Given the description of an element on the screen output the (x, y) to click on. 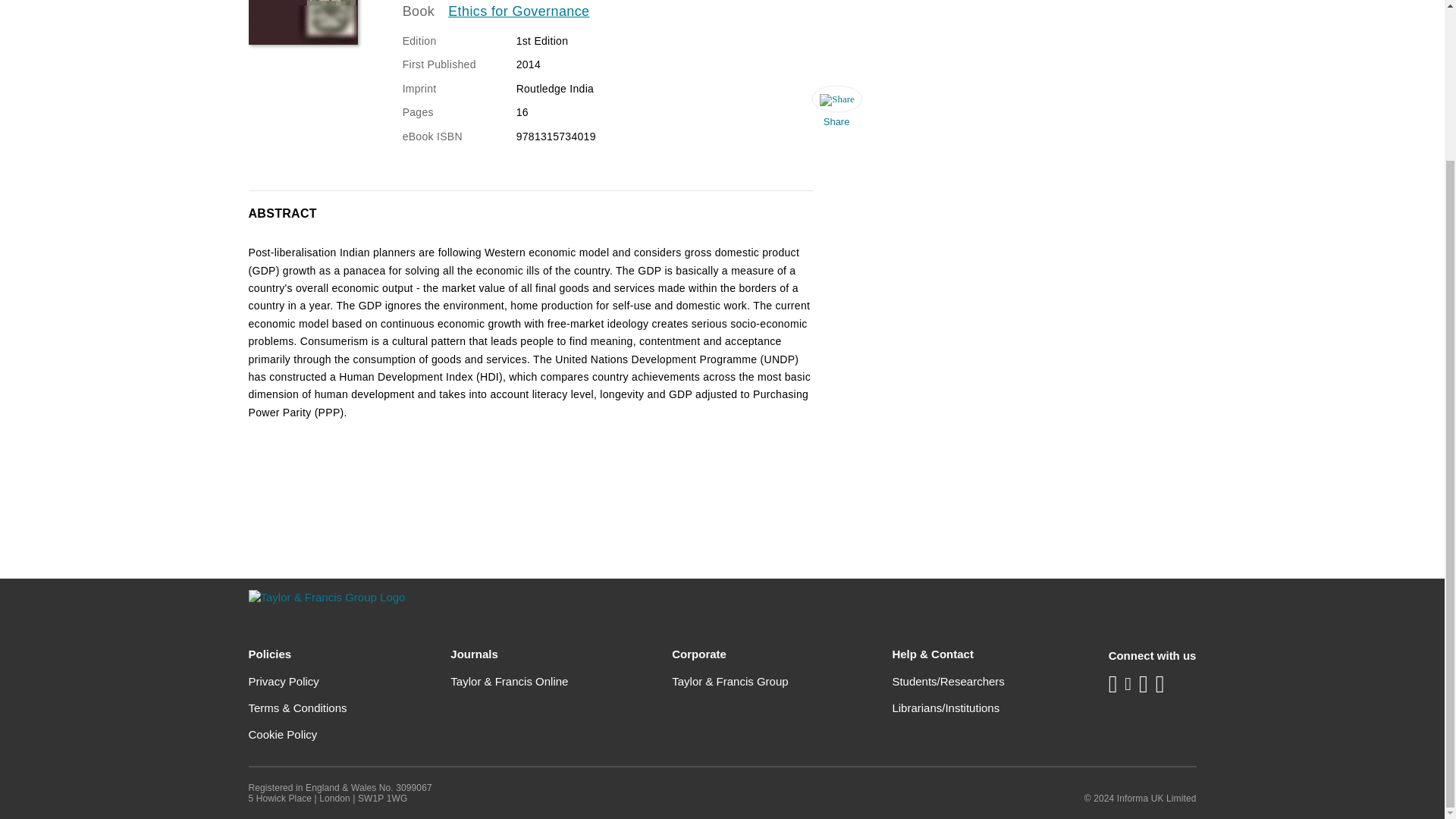
Share (836, 110)
Cookie Policy (282, 734)
Privacy Policy (283, 681)
Ethics for Governance (518, 11)
Constructing a New Economic Model (303, 22)
